Given the description of an element on the screen output the (x, y) to click on. 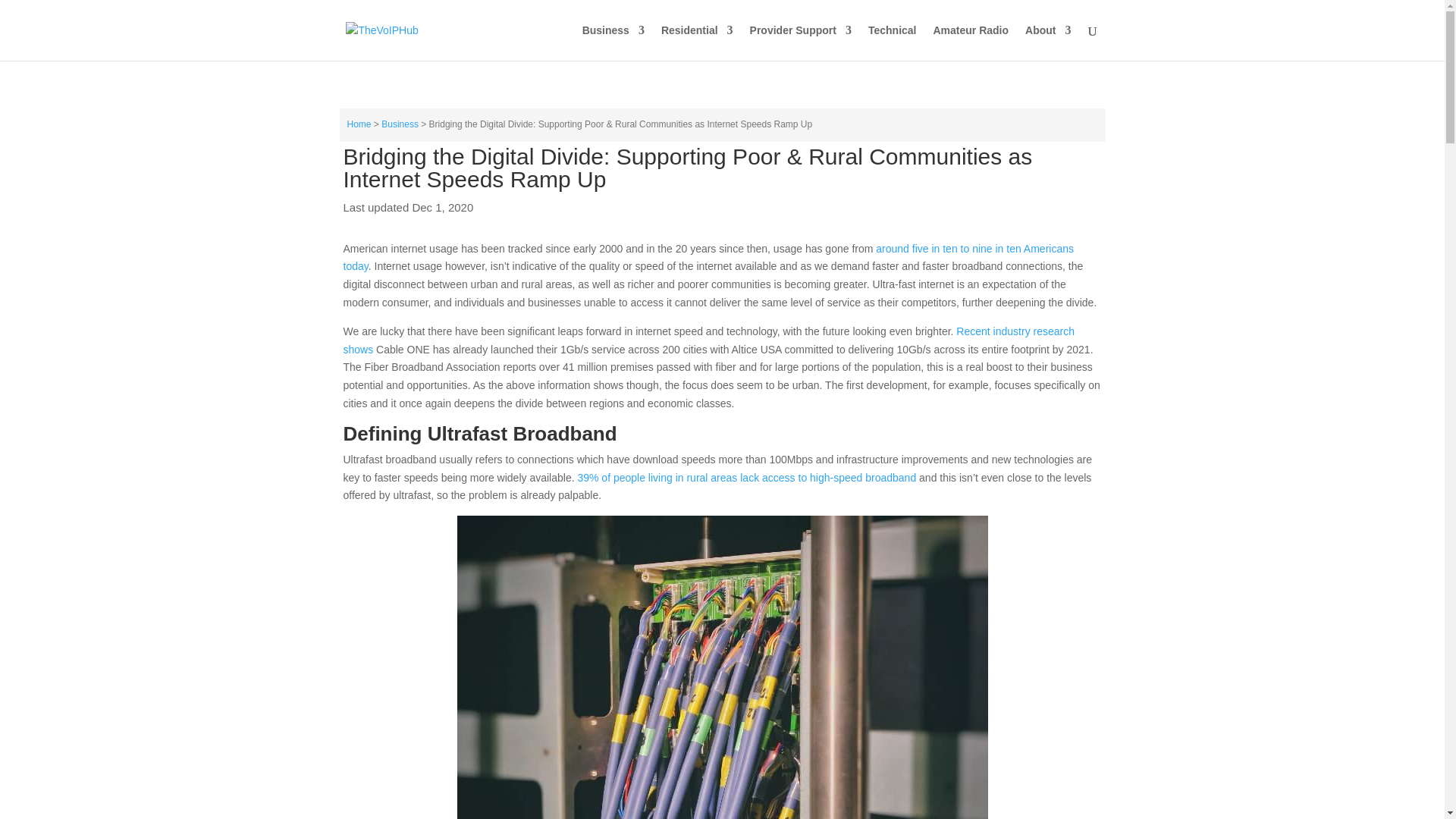
Go to TheVoIPHub. (359, 123)
Business (613, 42)
Recent industry research shows (708, 340)
Business (400, 123)
Technical (892, 42)
About (1047, 42)
Amateur Radio (971, 42)
Provider Support (800, 42)
Home (359, 123)
around five in ten to nine in ten Americans today (708, 257)
Residential (697, 42)
Go to the Business category archives. (400, 123)
